Given the description of an element on the screen output the (x, y) to click on. 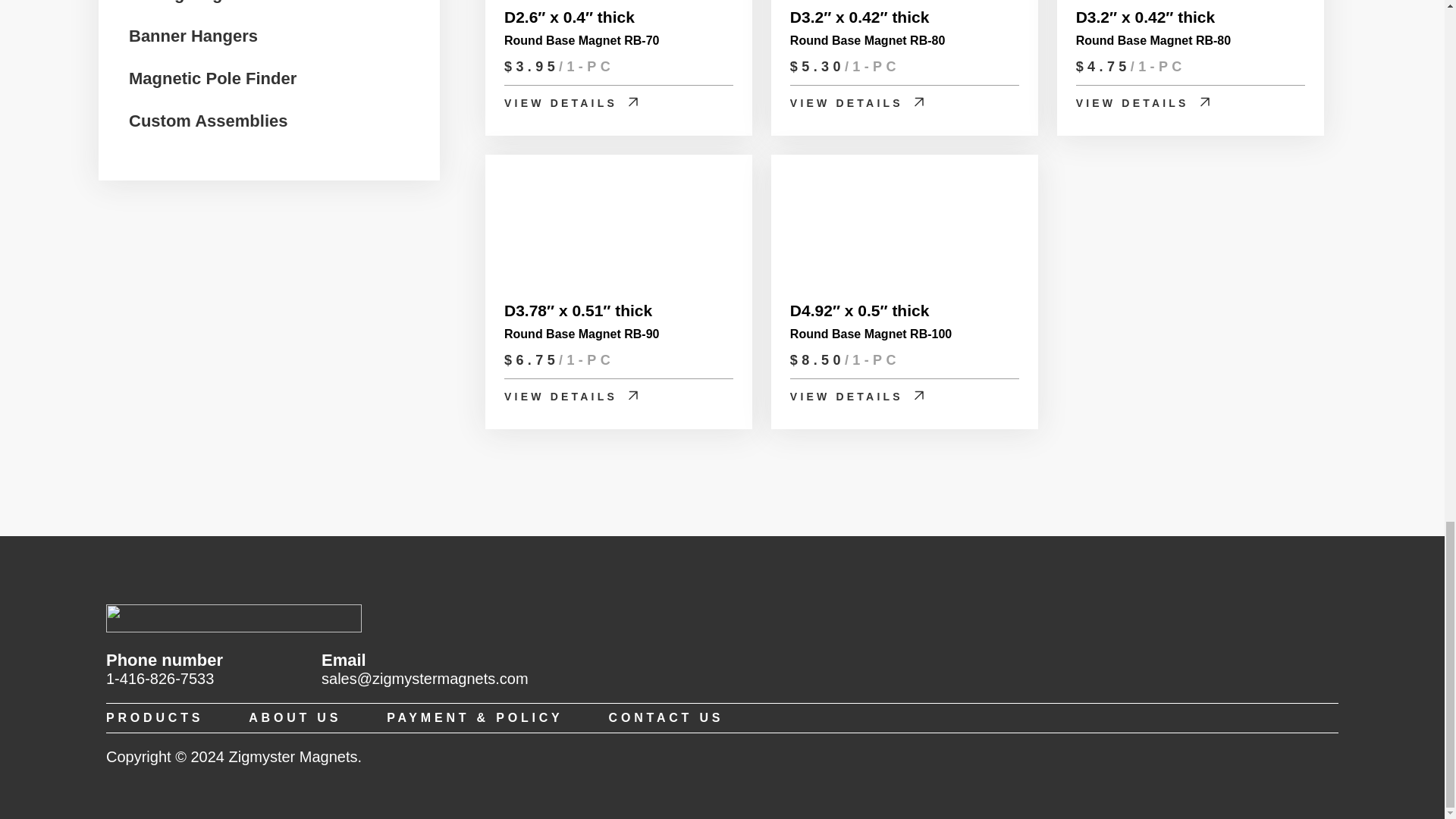
Zigmyster Magnets (233, 628)
Custom Assemblies (207, 119)
Ceiling Magnet - Plastic Case (245, 2)
Banner Hangers (193, 33)
Magnetic Pole Finder (213, 76)
Email (424, 678)
